Given the description of an element on the screen output the (x, y) to click on. 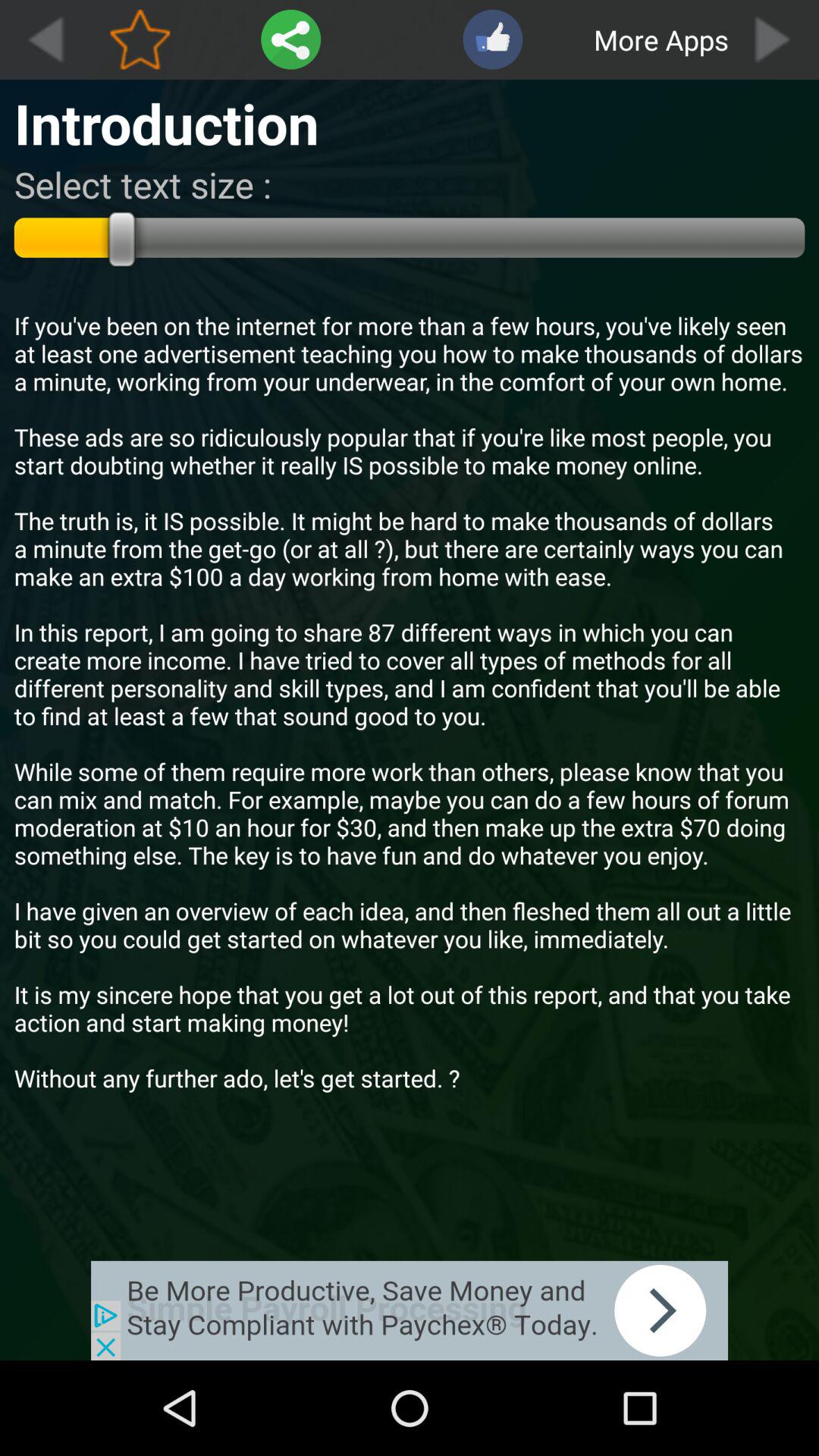
go to like (492, 39)
